Given the description of an element on the screen output the (x, y) to click on. 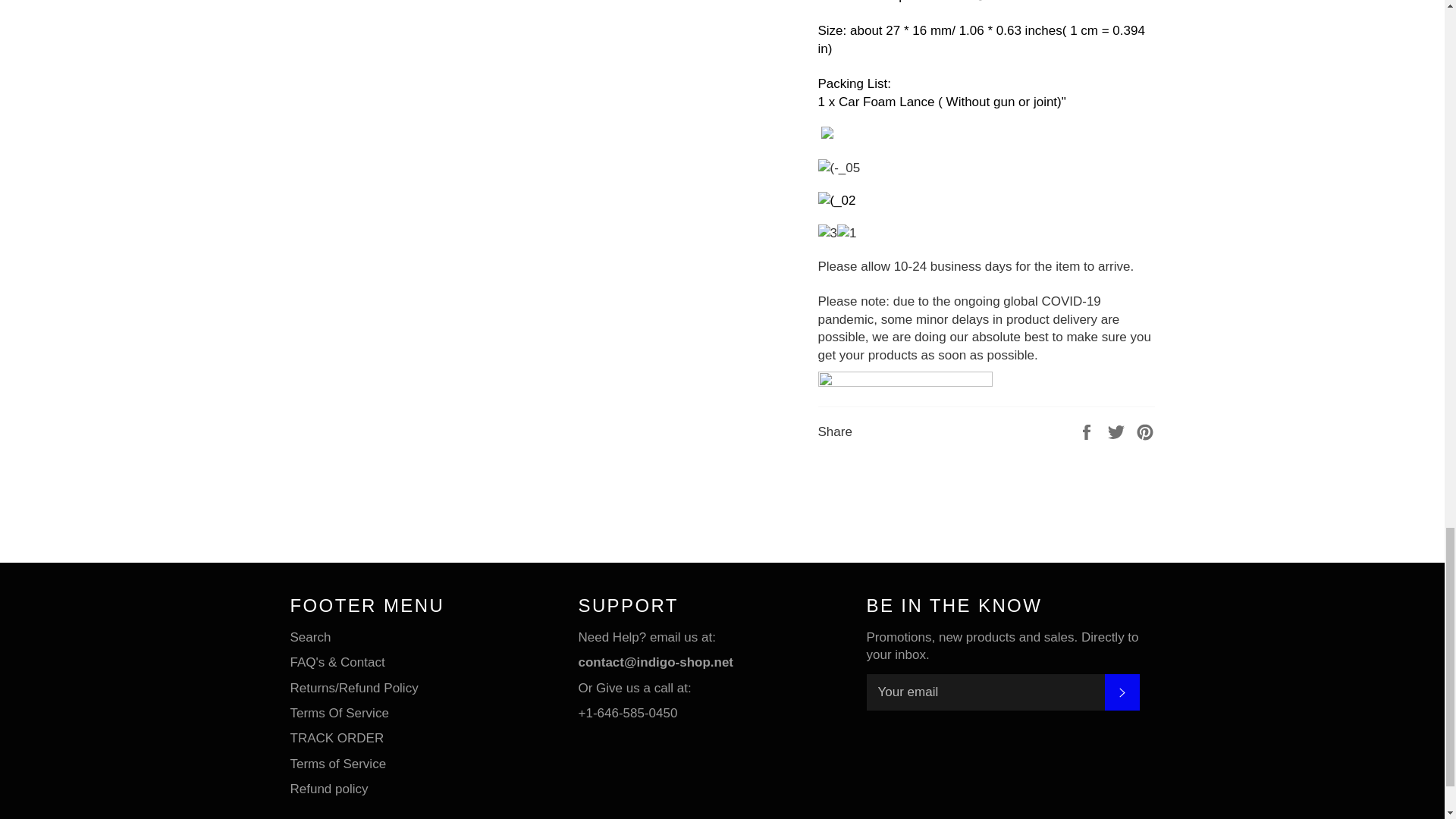
Pin on Pinterest (1144, 431)
Share on Facebook (1088, 431)
Tweet on Twitter (1117, 431)
